Given the description of an element on the screen output the (x, y) to click on. 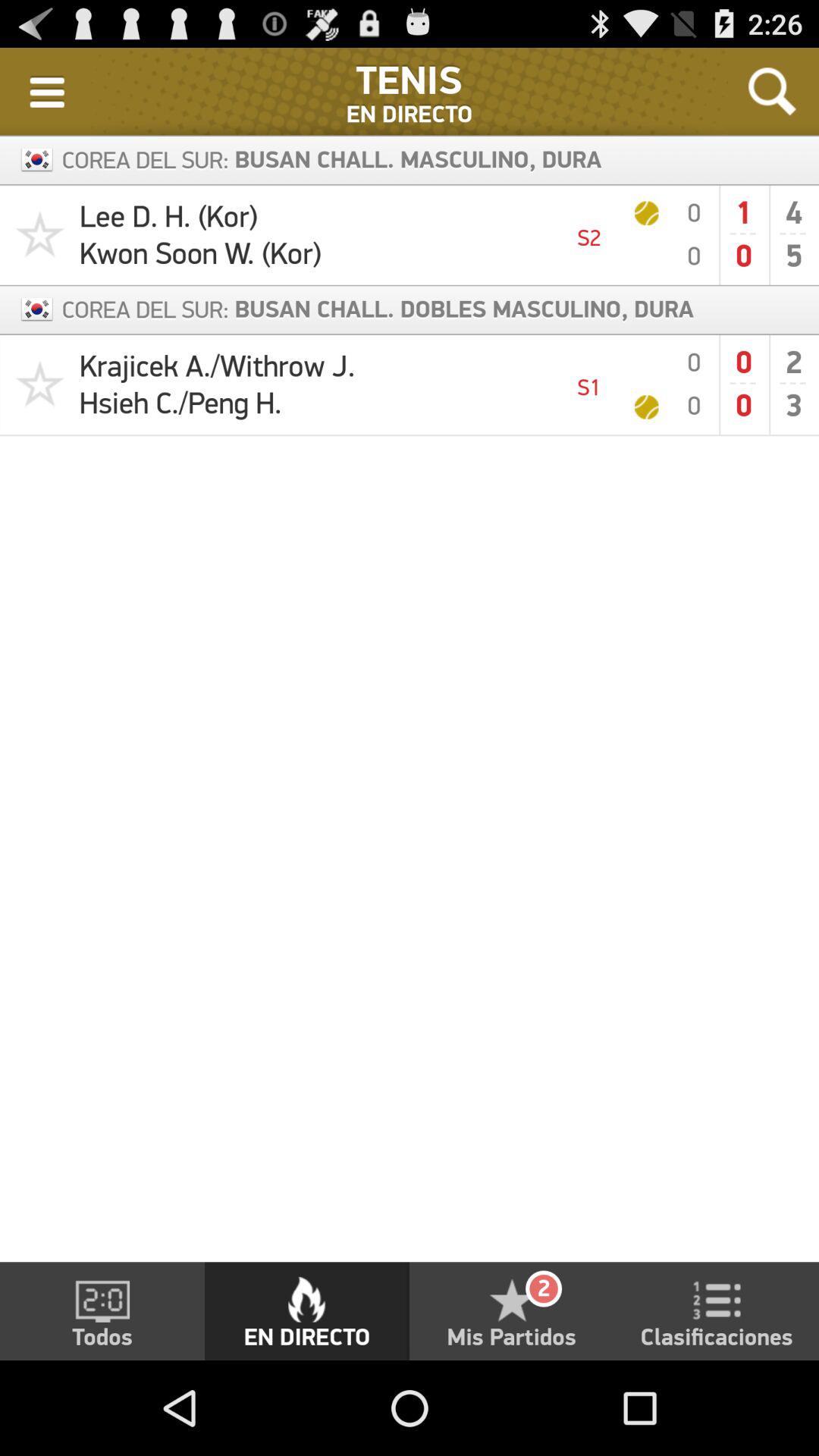
press the icon to the right of the busan chall masculino icon (772, 91)
